Given the description of an element on the screen output the (x, y) to click on. 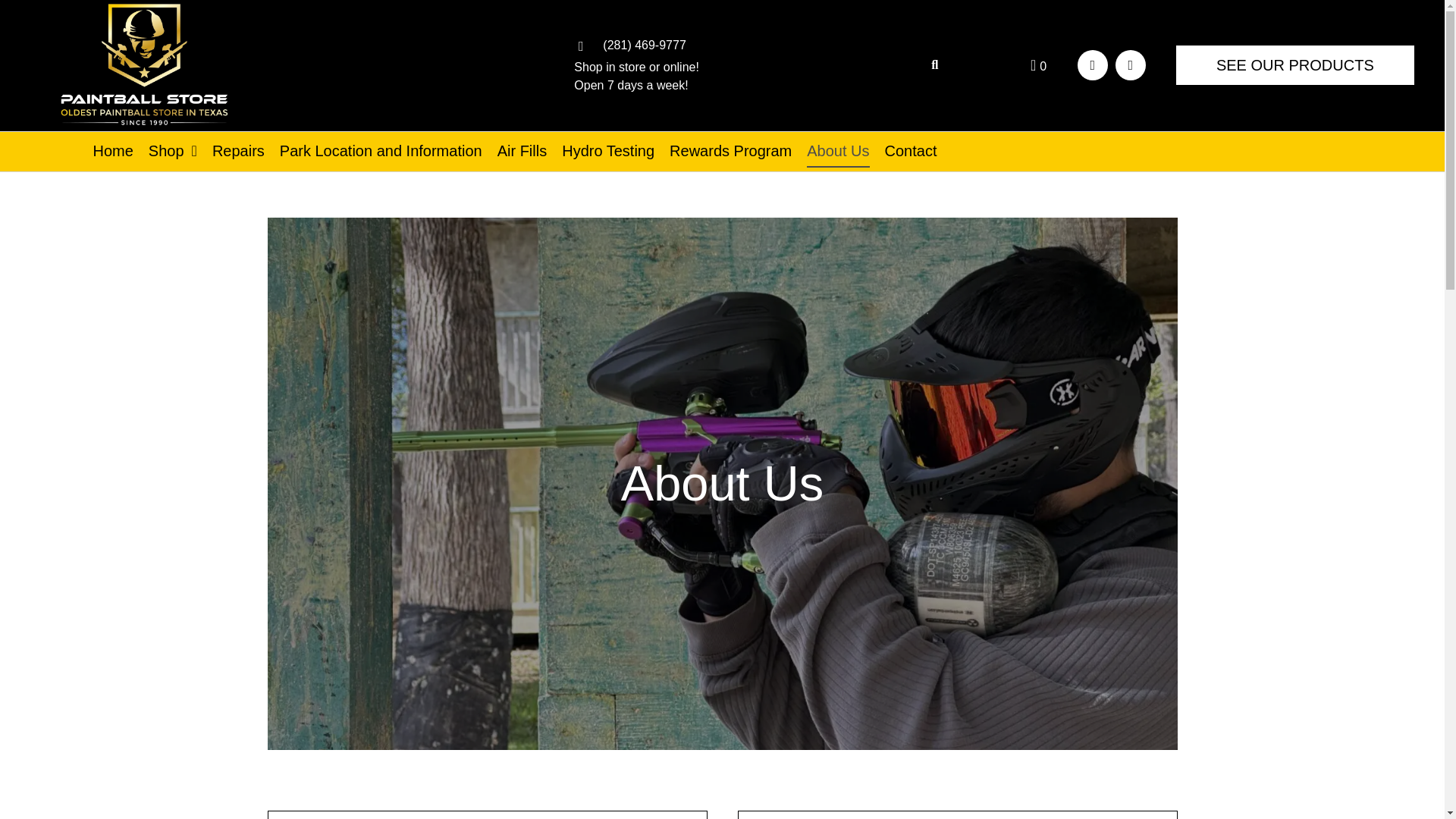
Park Location and Information (380, 151)
Repairs (238, 151)
About Us (837, 151)
Shop (172, 151)
Contact (911, 151)
Instagram (1130, 64)
Home (112, 151)
Rewards Program (730, 151)
Facebook (1092, 64)
Hydro Testing (607, 151)
